Given the description of an element on the screen output the (x, y) to click on. 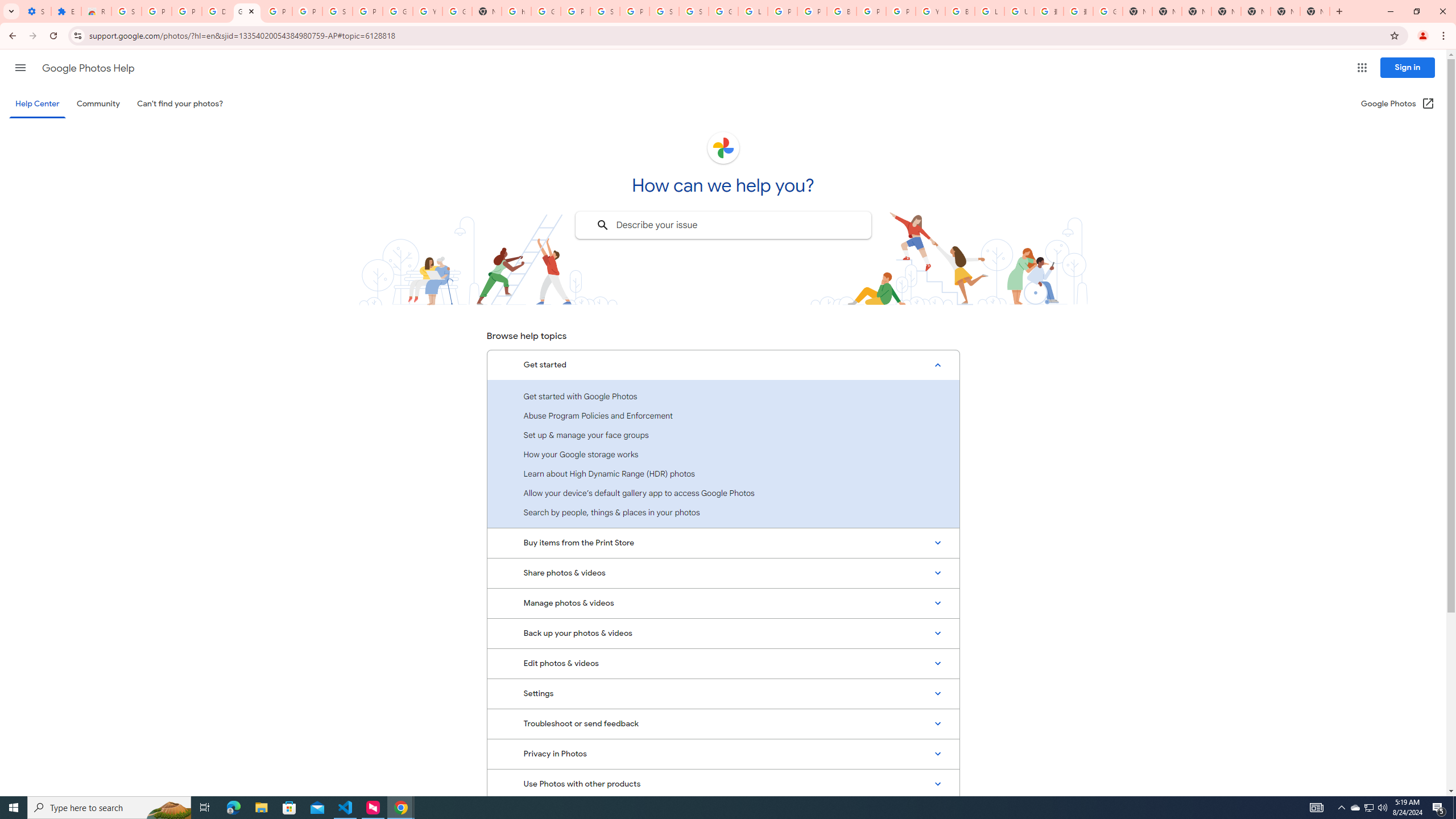
Privacy Help Center - Policies Help (811, 11)
Google Images (1107, 11)
Troubleshoot or send feedback (722, 723)
